Given the description of an element on the screen output the (x, y) to click on. 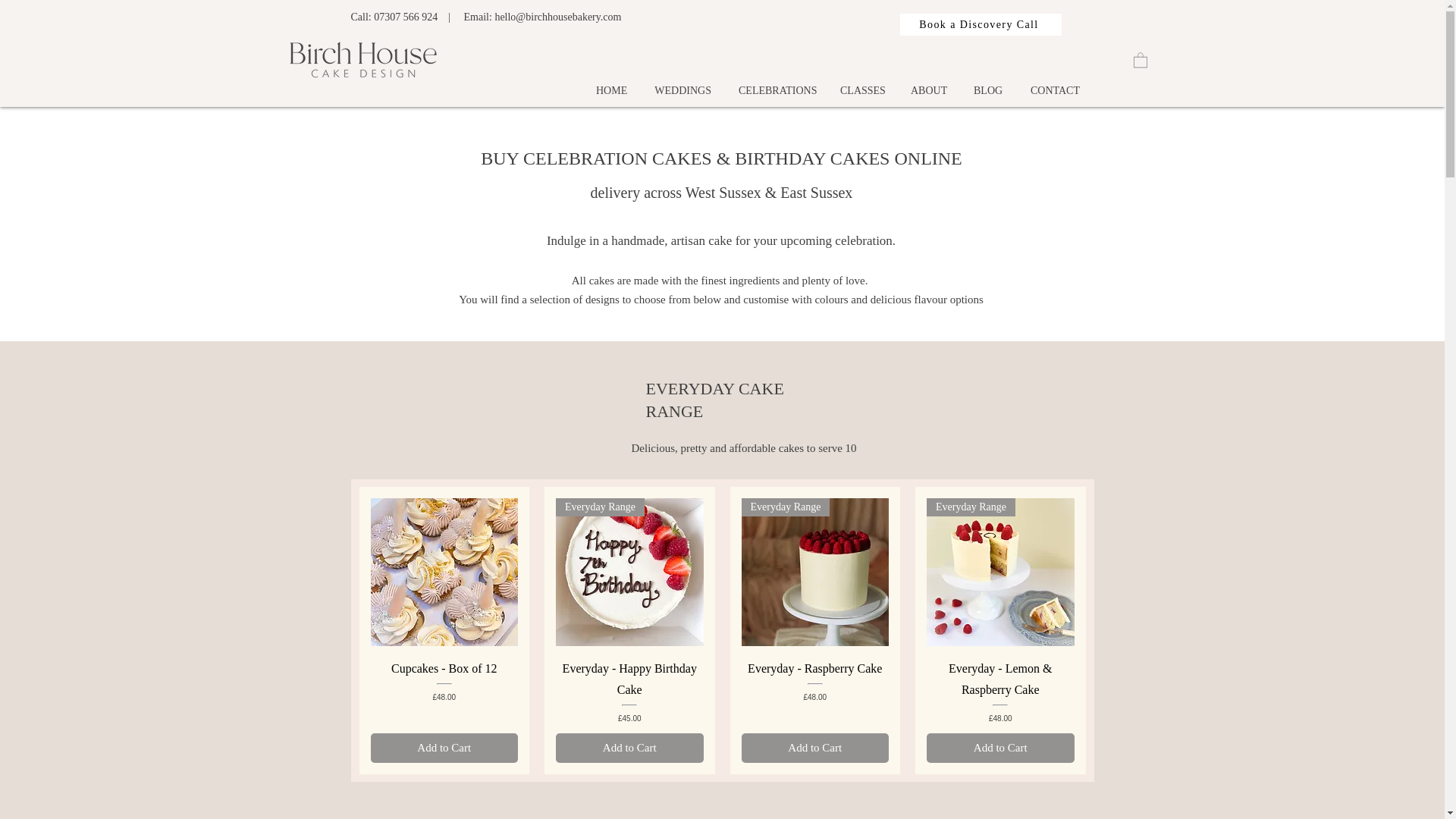
Everyday Range (1000, 571)
Everyday Range (629, 571)
Book a Discovery Call (980, 24)
CONTACT (1054, 83)
Add to Cart (1000, 747)
Add to Cart (629, 747)
07307 566 924 (406, 16)
BLOG (987, 83)
Add to Cart (443, 747)
HOME (611, 83)
